Given the description of an element on the screen output the (x, y) to click on. 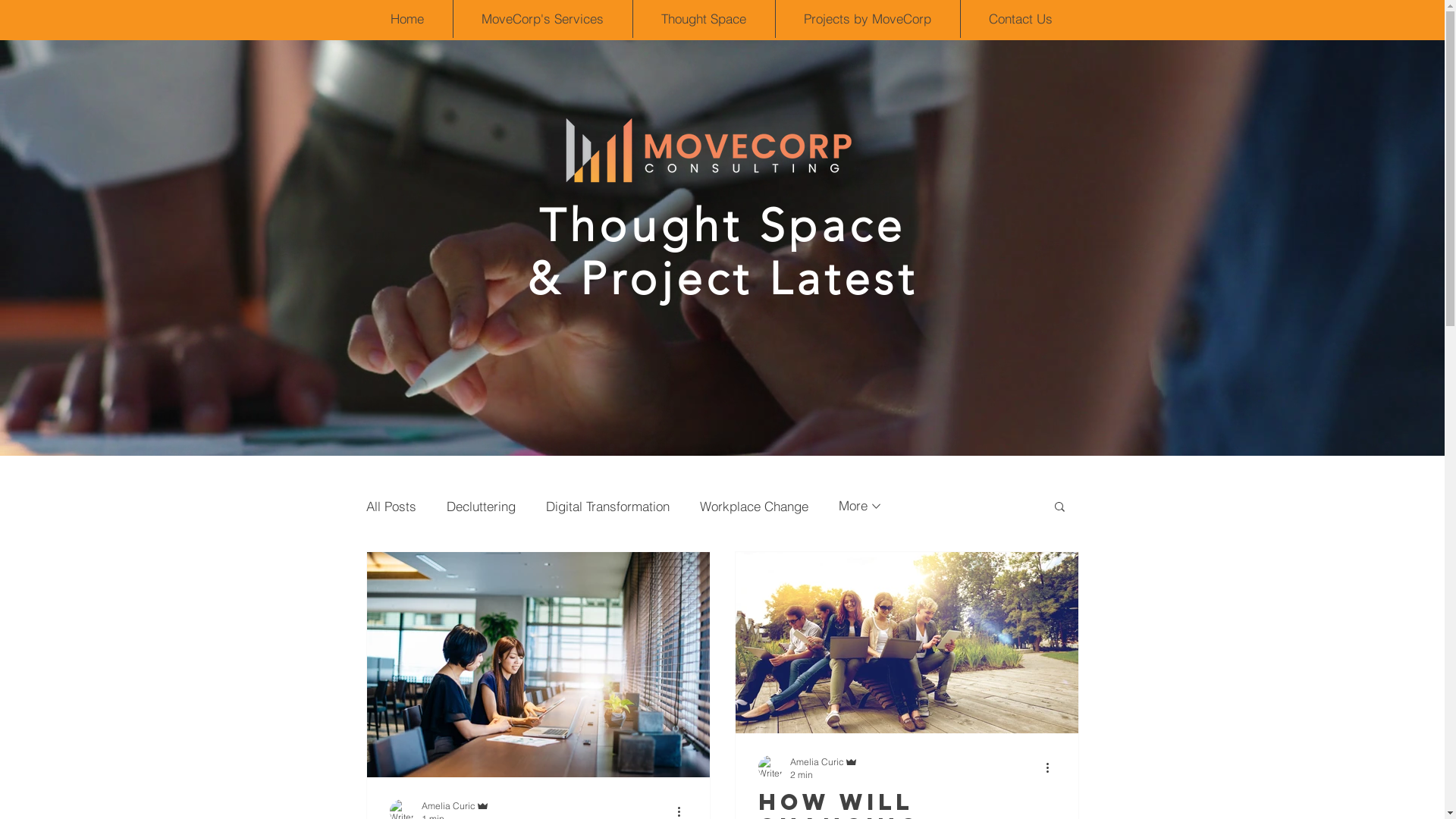
Projects by MoveCorp Element type: text (867, 18)
Workplace Change Element type: text (753, 505)
Decluttering Element type: text (479, 505)
MoveCorp's Services Element type: text (542, 18)
Thought Space Element type: text (703, 18)
Contact Us Element type: text (1020, 18)
All Posts Element type: text (390, 505)
Digital Transformation Element type: text (607, 505)
Home Element type: text (407, 18)
